Given the description of an element on the screen output the (x, y) to click on. 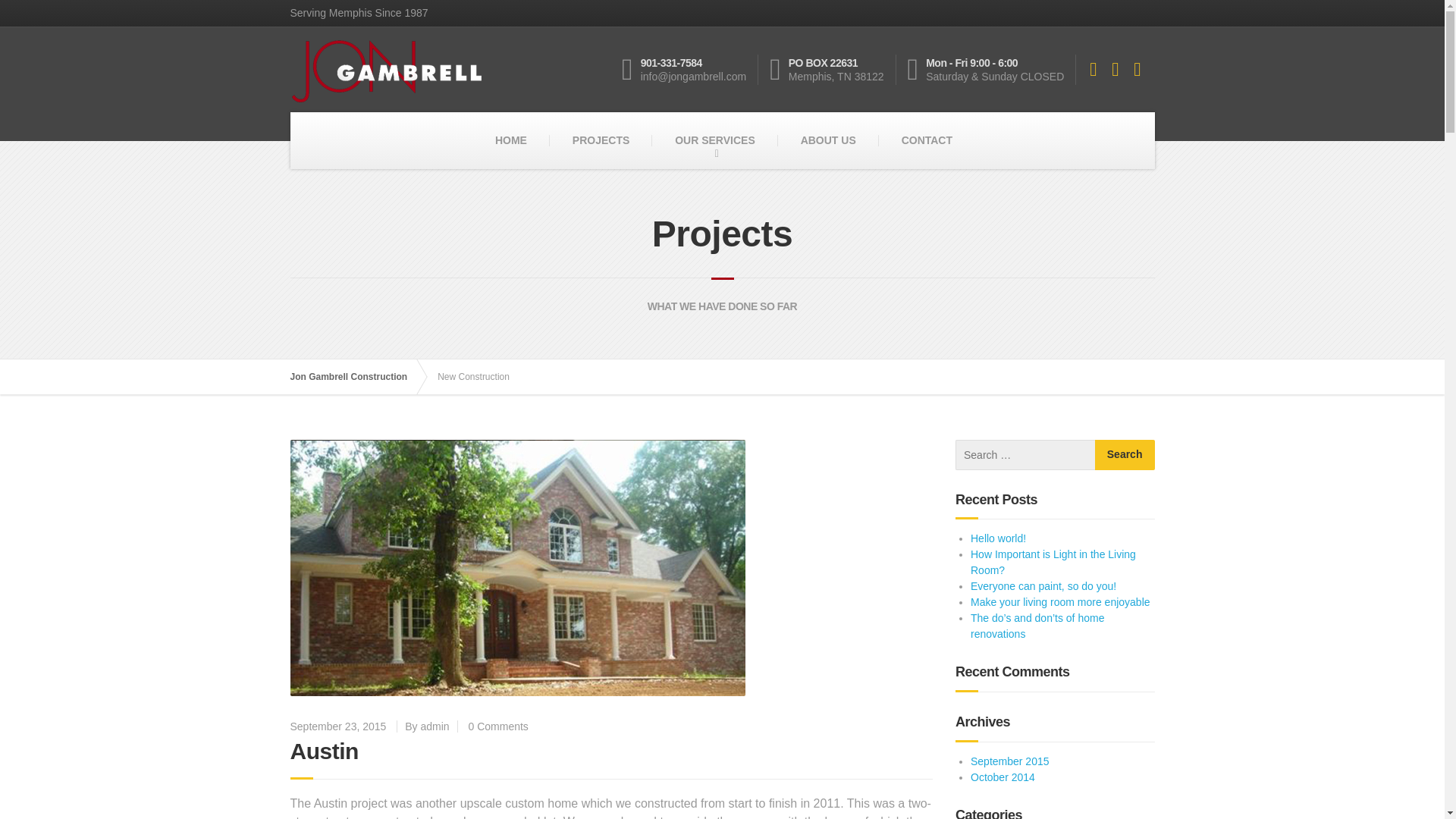
ABOUT US (832, 69)
CONTACT (828, 140)
Search (927, 140)
PROJECTS (1124, 454)
0 Comments (601, 140)
Go to Jon Gambrell Construction. (498, 726)
Search (355, 376)
Jon Gambrell Construction (1124, 454)
Austin (355, 376)
OUR SERVICES (323, 750)
HOME (714, 140)
